Given the description of an element on the screen output the (x, y) to click on. 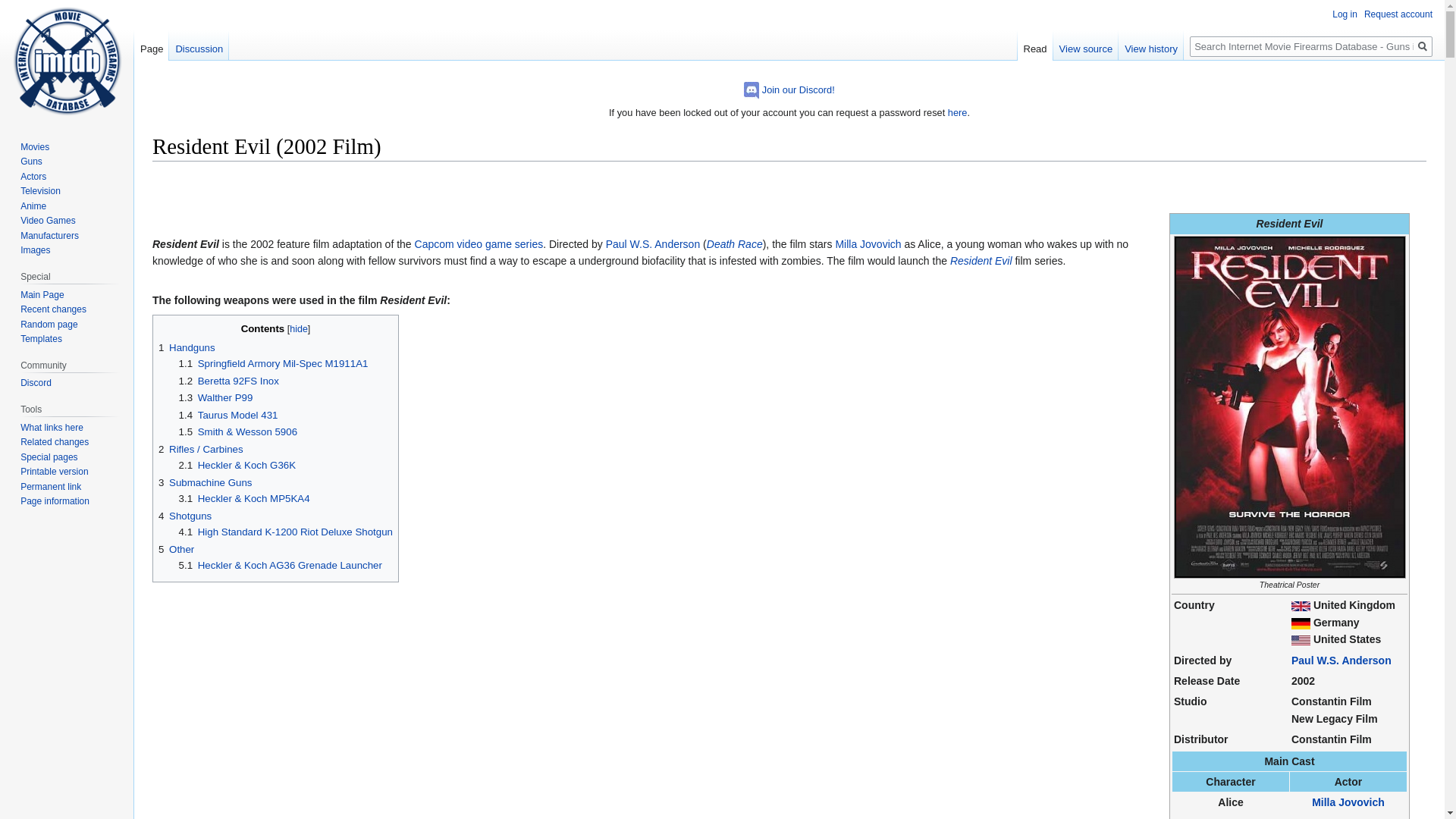
Death Race (734, 244)
Paul W.S. Anderson (1341, 660)
Resident Evil (980, 260)
1.4 Taurus Model 431 (228, 414)
Paul W.S. Anderson (1341, 660)
Michelle Rodriguez (1348, 818)
Join our Discord! (797, 89)
3 Submachine Guns (204, 482)
Paul W.S. Anderson (652, 244)
here (957, 112)
